Given the description of an element on the screen output the (x, y) to click on. 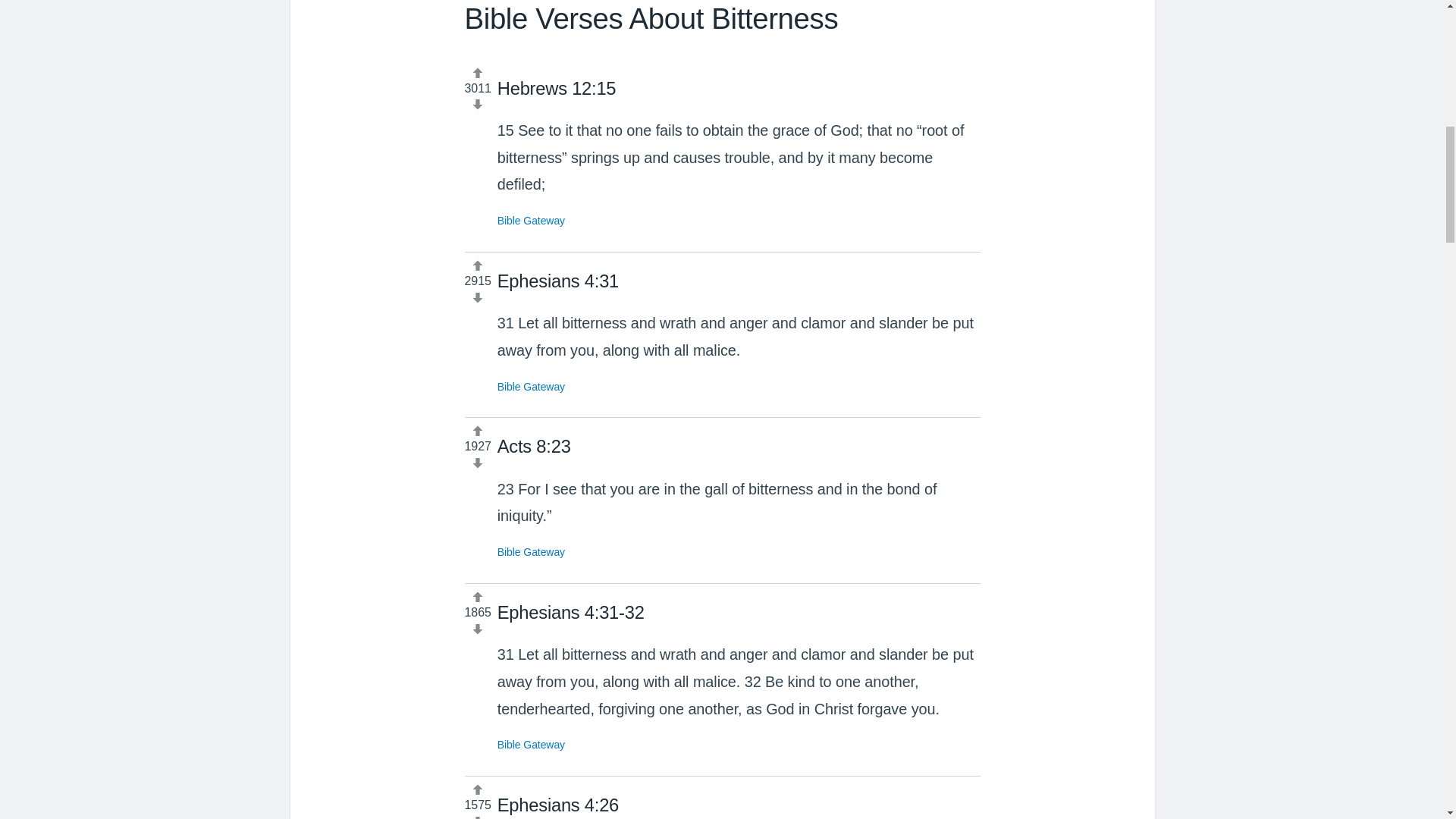
Bible Gateway (530, 551)
Bible Gateway (530, 220)
Bible Gateway (530, 386)
Bible Gateway (530, 744)
